Given the description of an element on the screen output the (x, y) to click on. 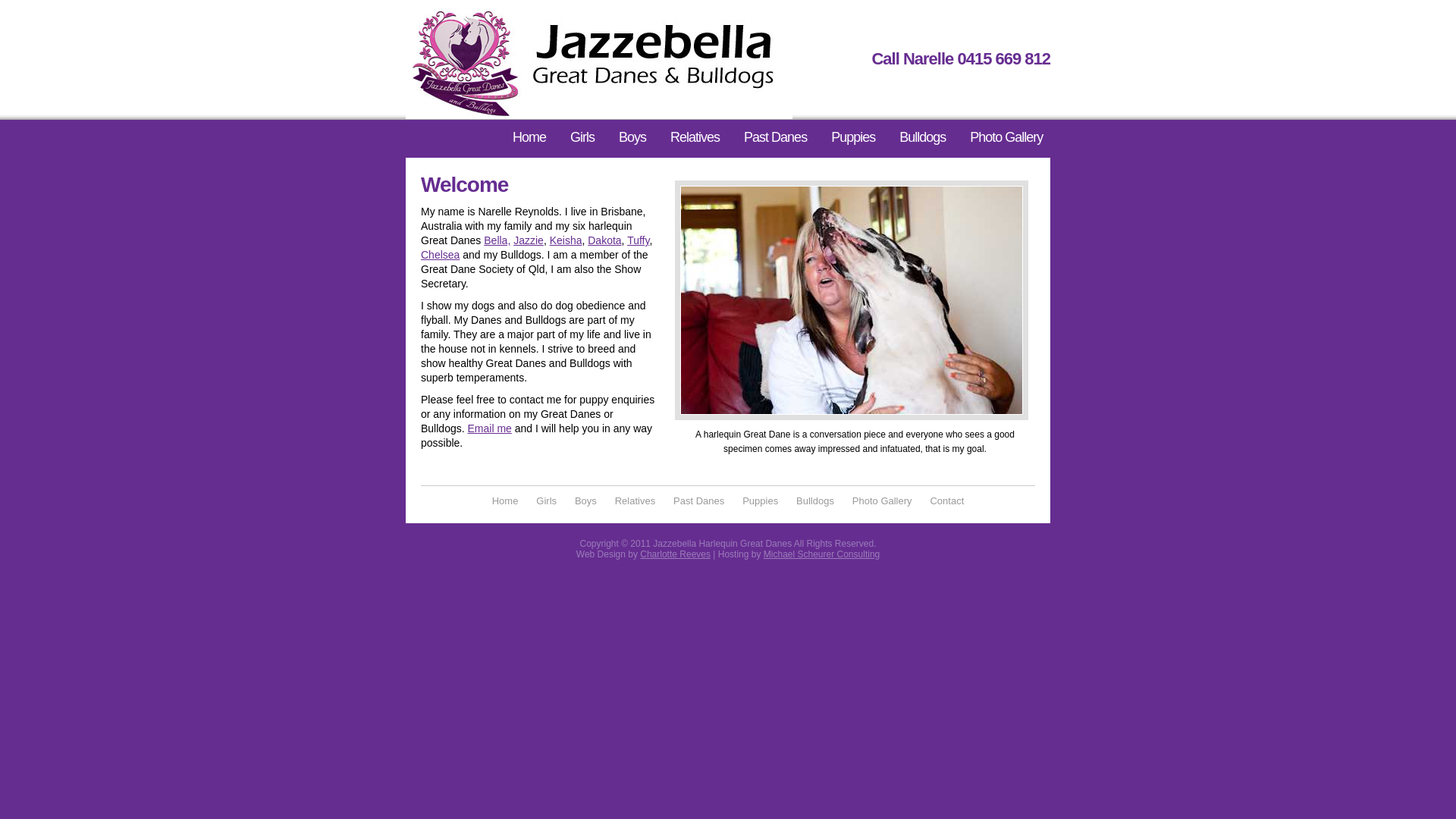
Girls Element type: text (582, 137)
Boys Element type: text (585, 500)
Relatives Element type: text (635, 500)
Keisha Element type: text (565, 240)
Home Element type: text (529, 137)
Bulldogs Element type: text (922, 137)
Home Element type: text (505, 500)
Michael Scheurer Consulting Element type: text (821, 554)
Photo Gallery Element type: text (882, 500)
Dakota Element type: text (604, 240)
Jazzie Element type: text (528, 240)
Contact Element type: text (533, 176)
Bella, Element type: text (496, 240)
Photo Gallery Element type: text (1005, 137)
Girls Element type: text (546, 500)
Email me Element type: text (489, 428)
Charlotte Reeves Element type: text (675, 554)
Tuffy Element type: text (638, 240)
Puppies Element type: text (760, 500)
Bulldogs Element type: text (815, 500)
Contact Element type: text (946, 500)
Past Danes Element type: text (698, 500)
Puppies Element type: text (853, 137)
Past Danes Element type: text (774, 137)
Boys Element type: text (632, 137)
Chelsea Element type: text (439, 254)
Relatives Element type: text (694, 137)
